Given the description of an element on the screen output the (x, y) to click on. 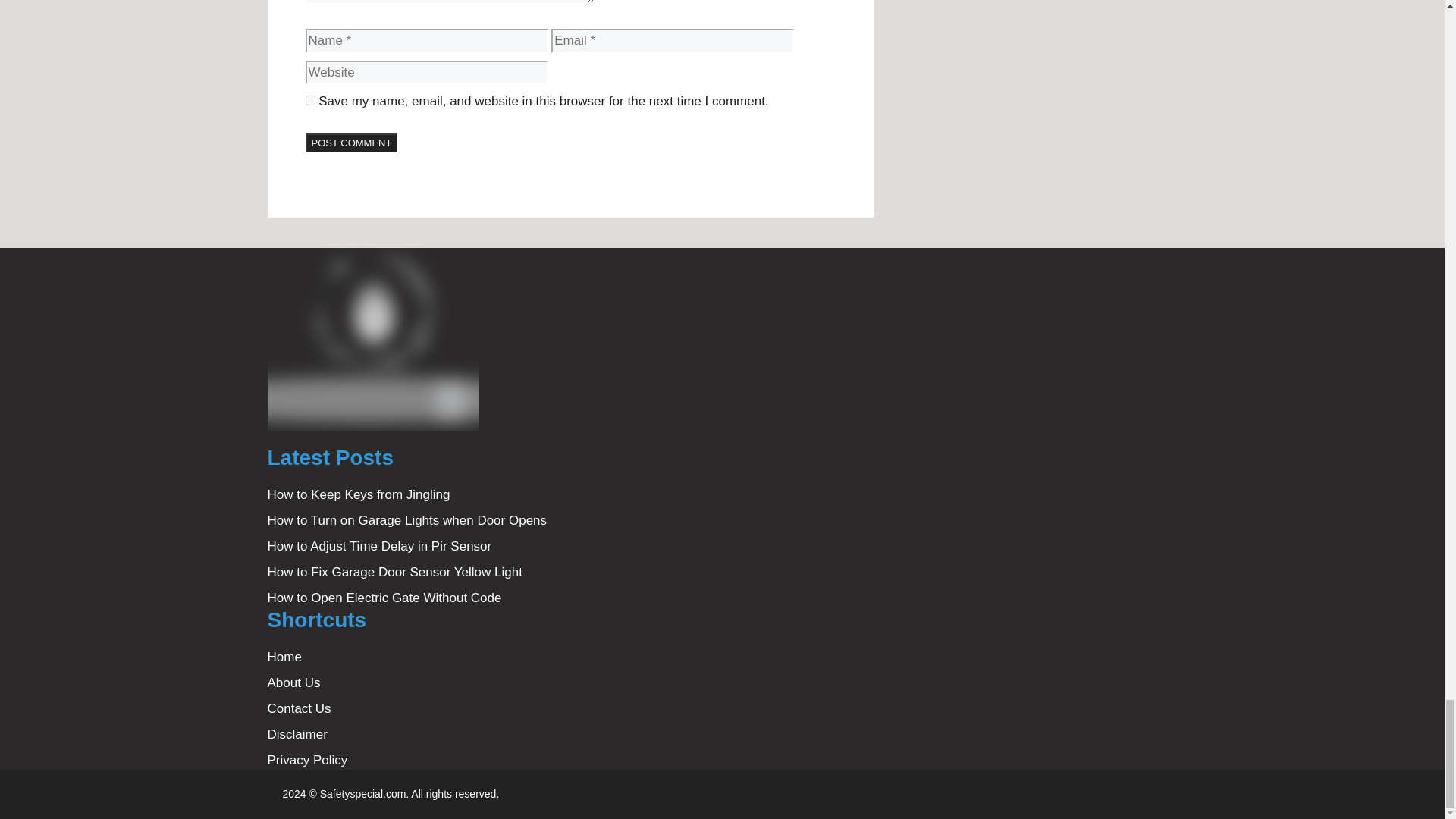
Contact Us (298, 708)
How to Turn on Garage Lights when Door Opens (406, 520)
yes (309, 100)
About Us (293, 682)
Post Comment (350, 143)
How to Keep Keys from Jingling (357, 494)
Privacy Policy (306, 759)
How to Fix Garage Door Sensor Yellow Light (393, 572)
Disclaimer (296, 734)
How to Adjust Time Delay in Pir Sensor (379, 545)
Post Comment (350, 143)
Home (283, 657)
How to Open Electric Gate Without Code (383, 597)
